Given the description of an element on the screen output the (x, y) to click on. 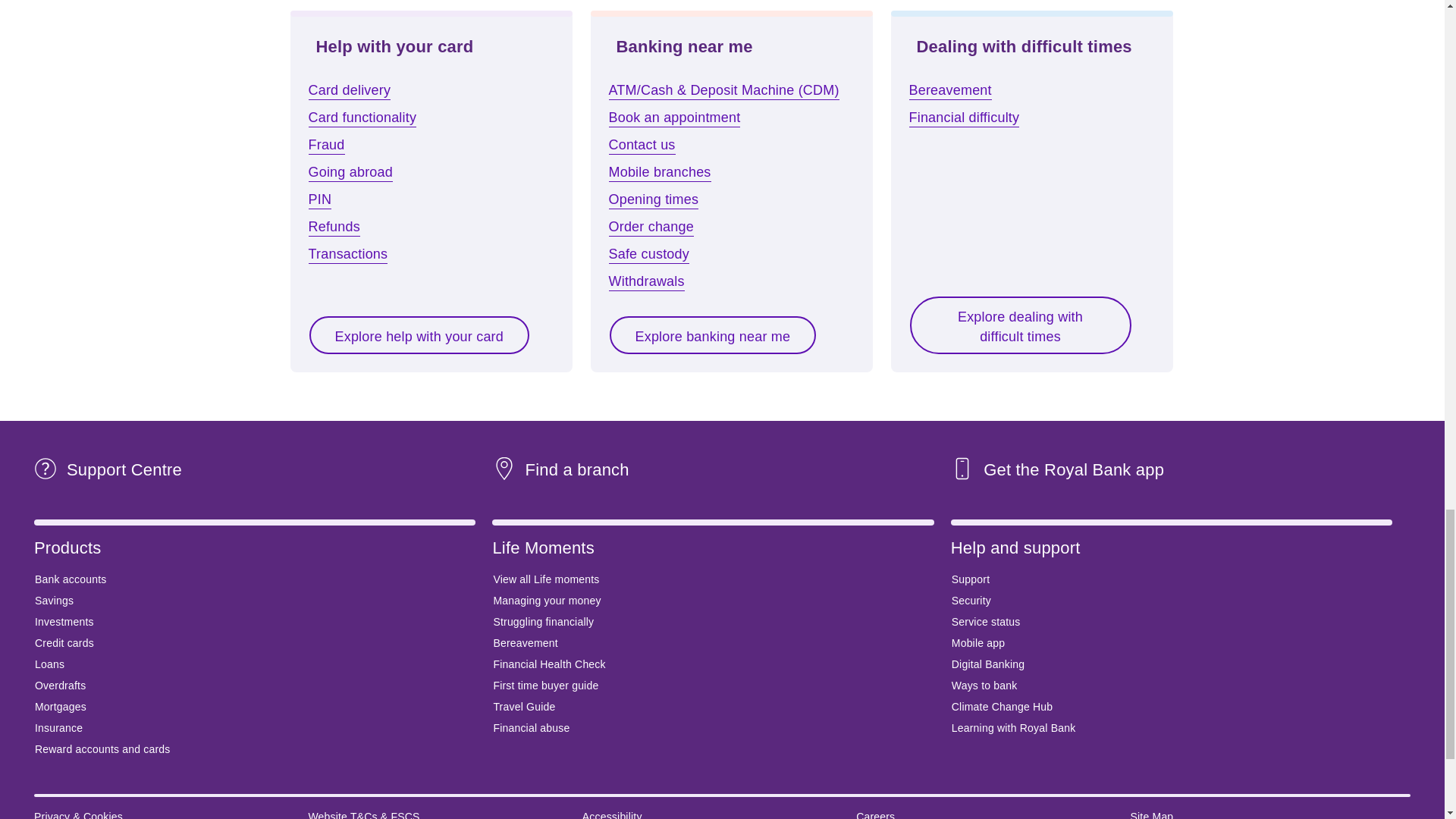
Explore help with your card (418, 335)
Explore banking near me (712, 335)
Explore dealing with difficult times (1019, 324)
